Given the description of an element on the screen output the (x, y) to click on. 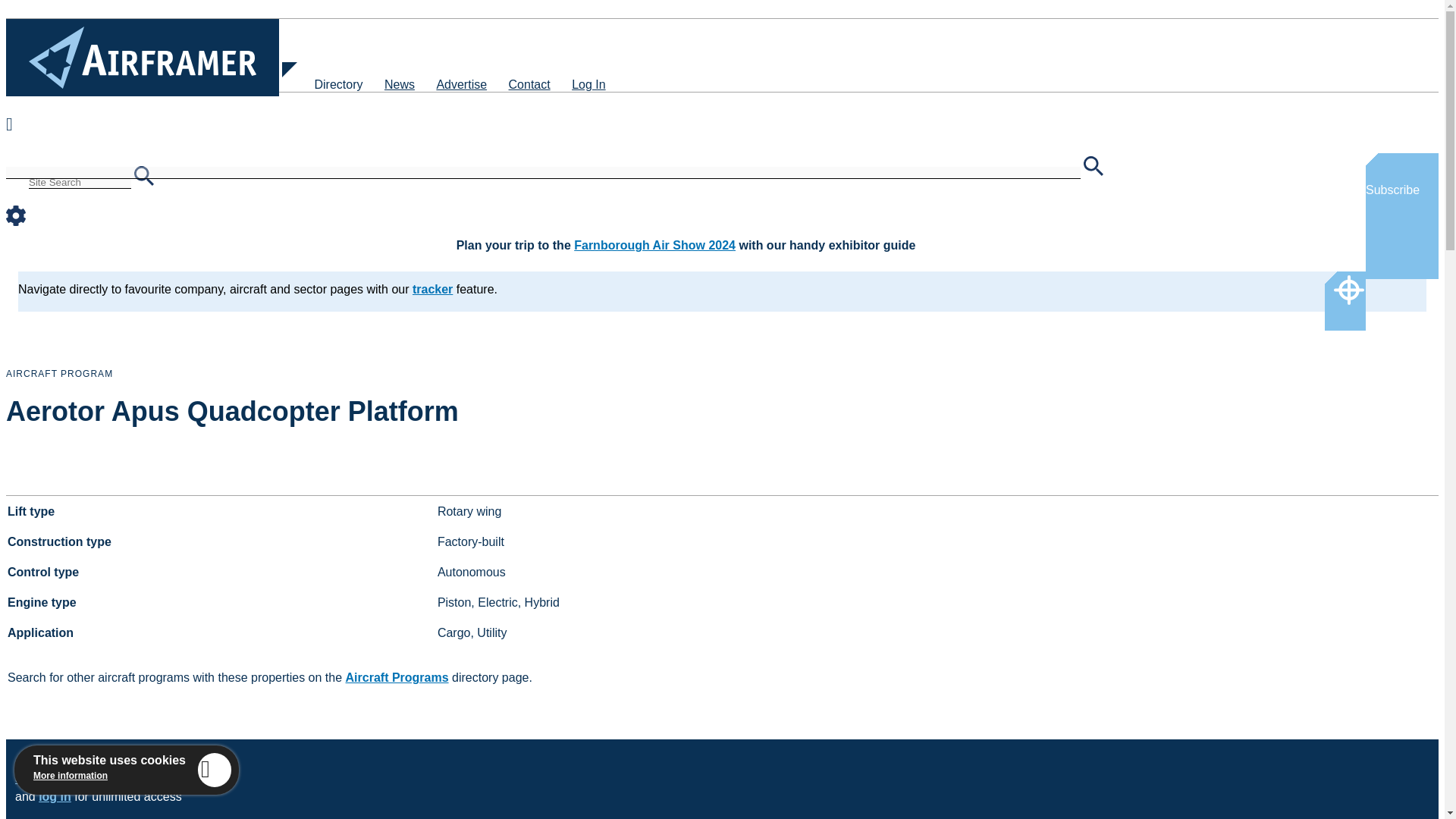
Advertise (460, 83)
Airframer (142, 57)
More information (70, 775)
log in (55, 796)
Log In (588, 83)
Contact (529, 83)
Subscribe today (61, 778)
Farnborough Air Show 2024 (654, 245)
Aircraft Programs (397, 676)
News (399, 83)
tracker (432, 288)
I accept (214, 769)
